Given the description of an element on the screen output the (x, y) to click on. 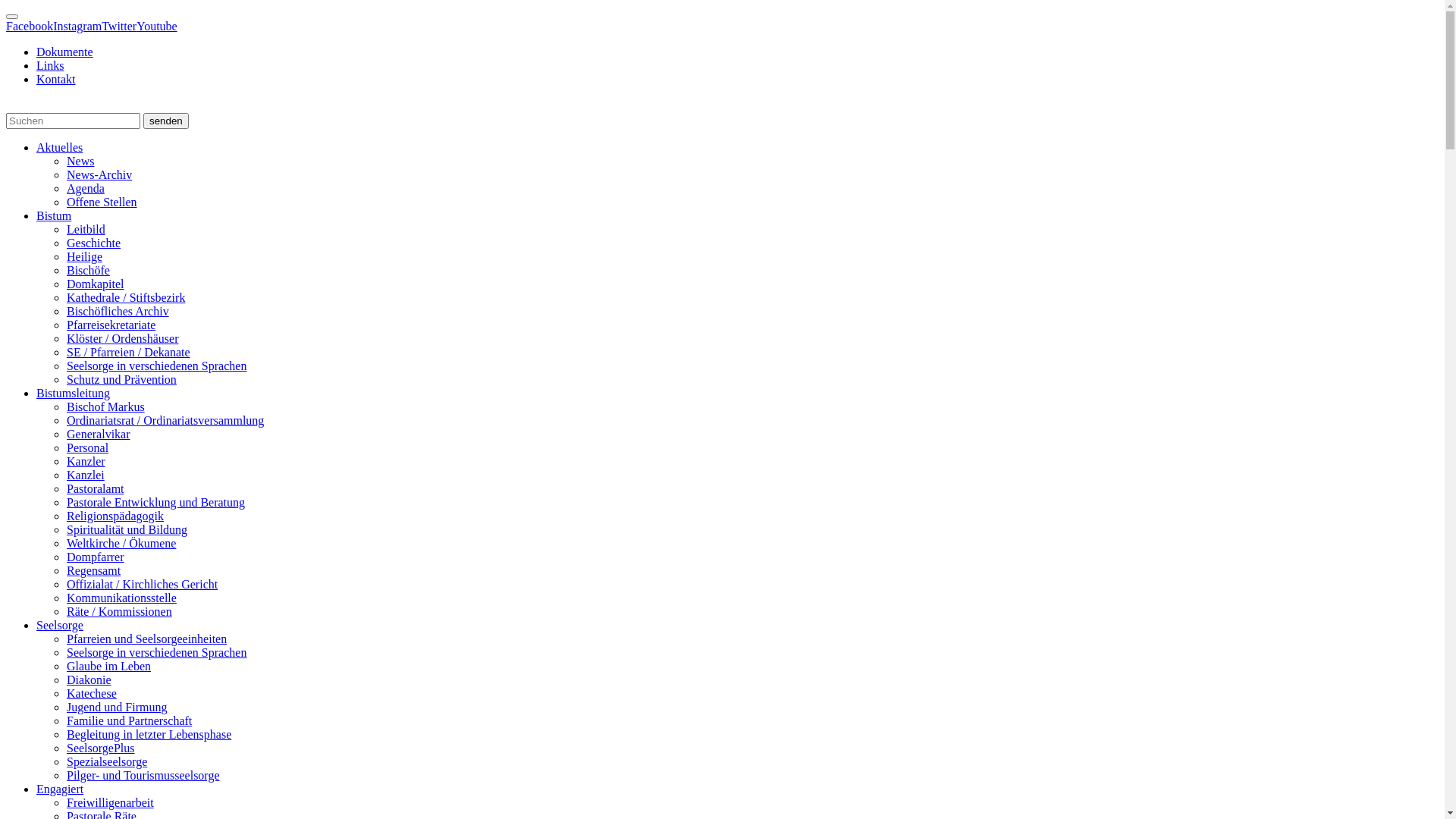
Instagram Element type: text (77, 25)
Bistum Element type: text (53, 215)
Seelsorge in verschiedenen Sprachen Element type: text (156, 365)
Begleitung in letzter Lebensphase Element type: text (148, 734)
Spezialseelsorge Element type: text (106, 761)
Personal Element type: text (87, 447)
Kanzler Element type: text (85, 461)
Aktuelles Element type: text (59, 147)
Engagiert Element type: text (59, 788)
Twitter Element type: text (118, 25)
Pfarreien und Seelsorgeeinheiten Element type: text (146, 638)
SE / Pfarreien / Dekanate Element type: text (128, 351)
News Element type: text (80, 160)
Pilger- und Tourismusseelsorge Element type: text (142, 774)
Glaube im Leben Element type: text (108, 665)
Katechese Element type: text (91, 693)
Jugend und Firmung Element type: text (116, 706)
Ordinariatsrat / Ordinariatsversammlung Element type: text (164, 420)
Offizialat / Kirchliches Gericht Element type: text (141, 583)
Agenda Element type: text (85, 188)
Regensamt Element type: text (93, 570)
Bistumsleitung Element type: text (72, 392)
Kommunikationsstelle Element type: text (121, 597)
Seelsorge in verschiedenen Sprachen Element type: text (156, 652)
Diakonie Element type: text (88, 679)
Bischof Markus Element type: text (105, 406)
Offene Stellen Element type: text (101, 201)
Familie und Partnerschaft Element type: text (128, 720)
Pfarreisekretariate Element type: text (110, 324)
Kontakt Element type: text (55, 78)
Pastoralamt Element type: text (95, 488)
Geschichte Element type: text (93, 242)
Heilige Element type: text (84, 256)
Facebook Element type: text (29, 25)
Freiwilligenarbeit Element type: text (109, 802)
Kanzlei Element type: text (85, 474)
Youtube Element type: text (156, 25)
senden Element type: text (165, 120)
Links Element type: text (49, 65)
Domkapitel Element type: text (95, 283)
Leitbild Element type: text (85, 228)
Pastorale Entwicklung und Beratung Element type: text (155, 501)
SeelsorgePlus Element type: text (100, 747)
Dokumente Element type: text (64, 51)
Seelsorge Element type: text (59, 624)
Kathedrale / Stiftsbezirk Element type: text (125, 297)
News-Archiv Element type: text (98, 174)
Dompfarrer Element type: text (95, 556)
Generalvikar Element type: text (98, 433)
